Given the description of an element on the screen output the (x, y) to click on. 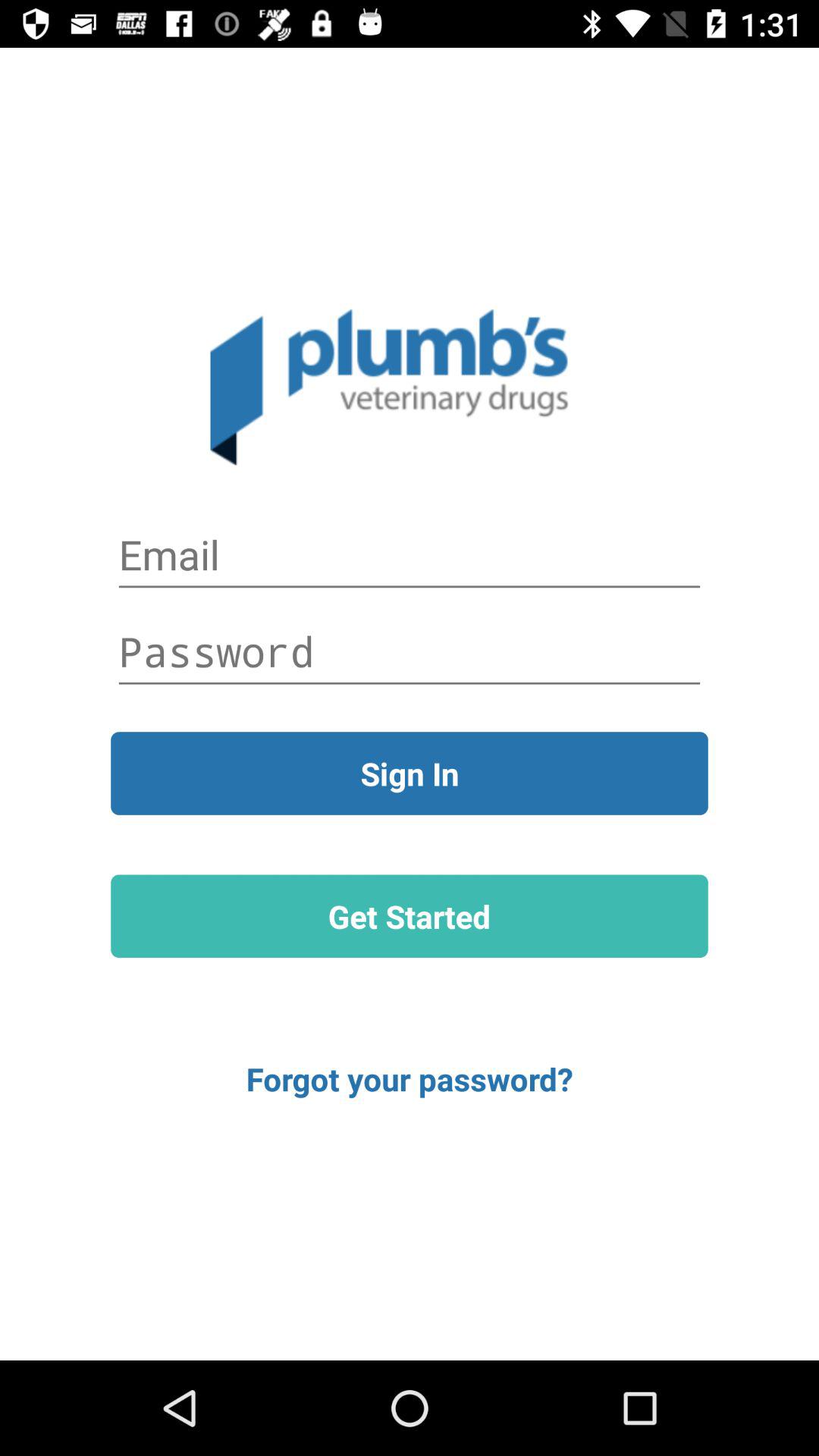
swipe until the get started icon (409, 915)
